Given the description of an element on the screen output the (x, y) to click on. 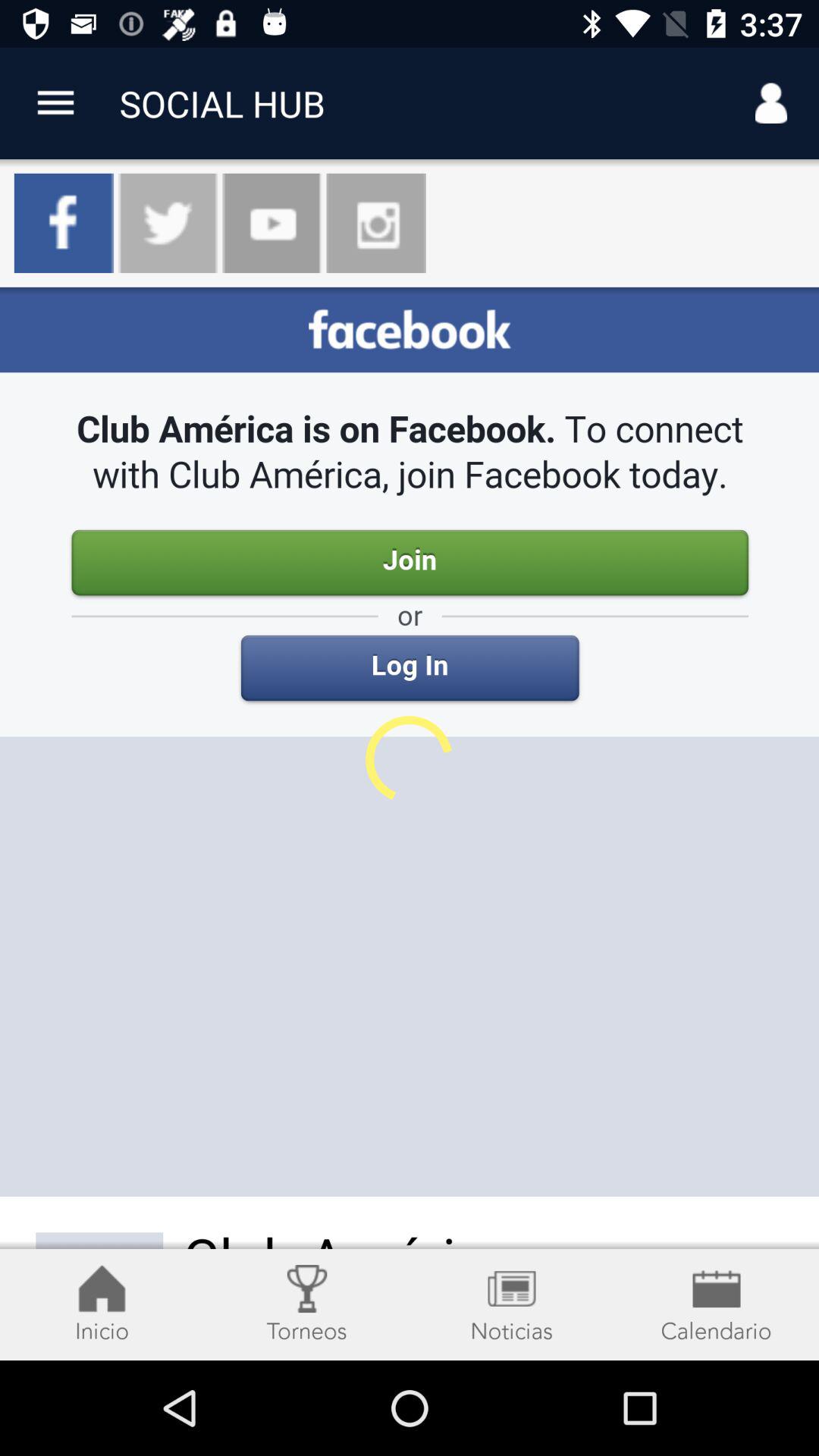
toggle menu option (55, 103)
